Given the description of an element on the screen output the (x, y) to click on. 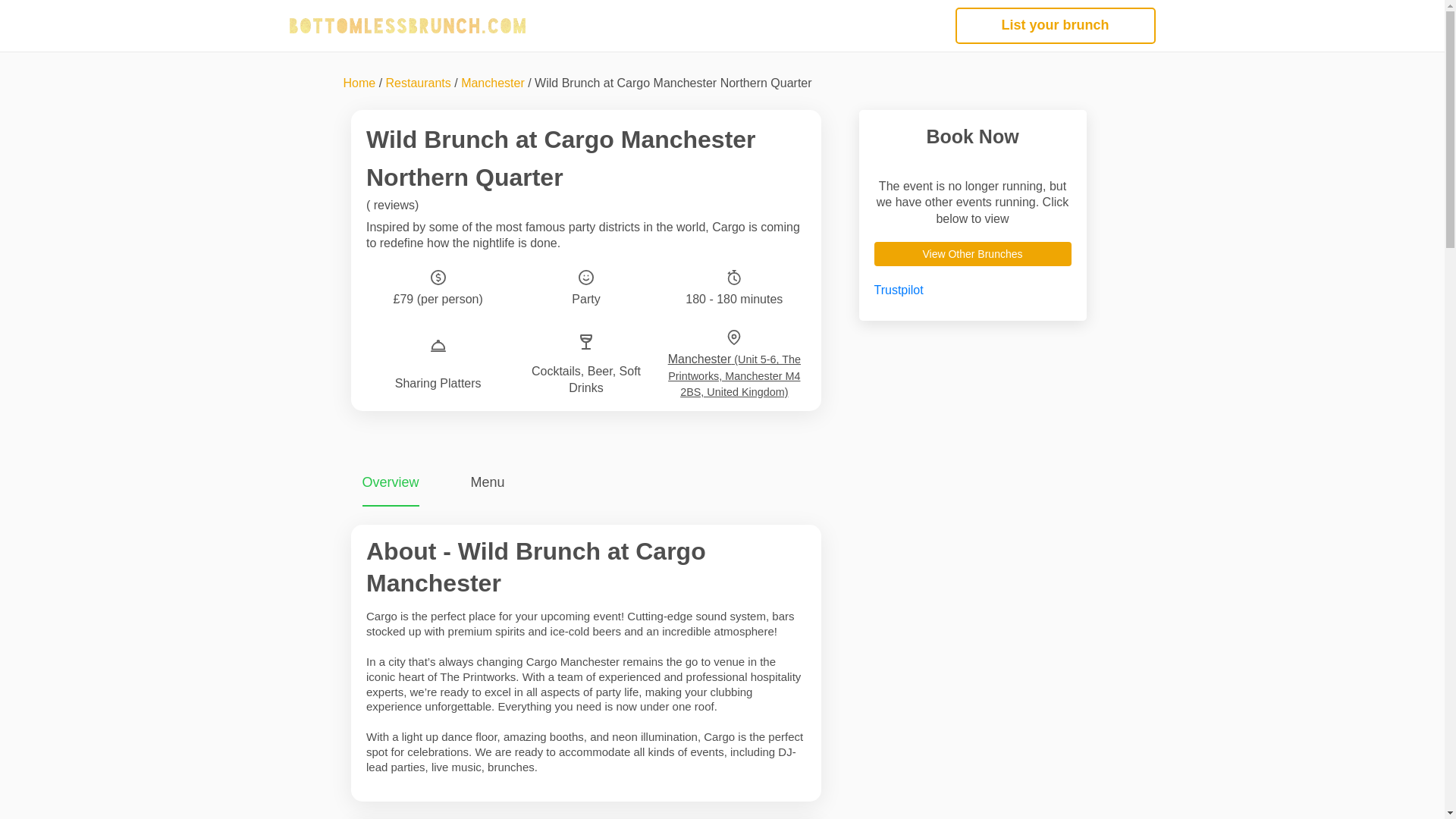
Overview (390, 482)
List your brunch (1055, 25)
View Other Brunches (971, 253)
Trustpilot (898, 289)
Home (358, 82)
Menu (487, 482)
Manchester (492, 82)
Restaurants (418, 82)
